Given the description of an element on the screen output the (x, y) to click on. 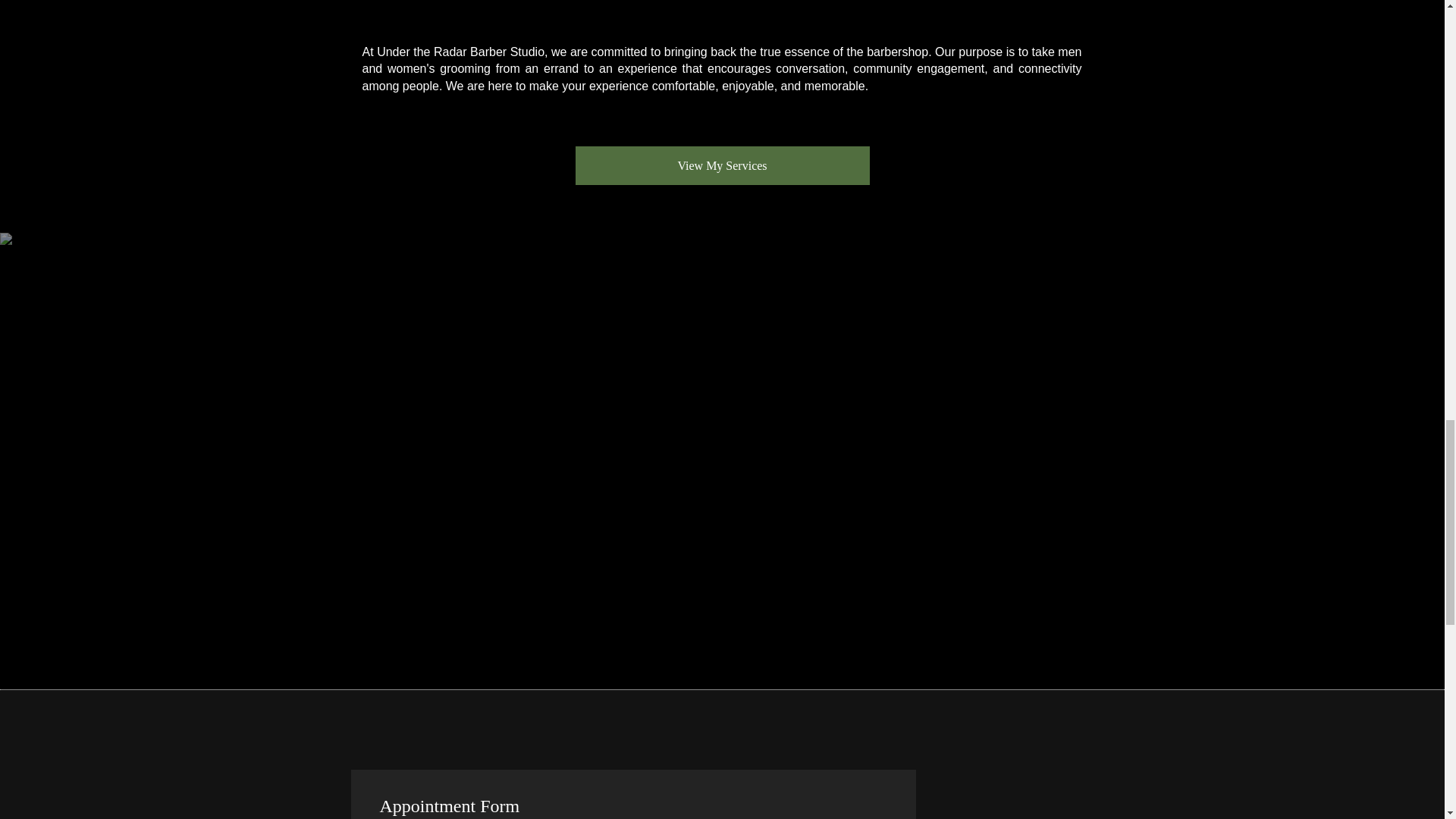
View My Services (722, 165)
